Given the description of an element on the screen output the (x, y) to click on. 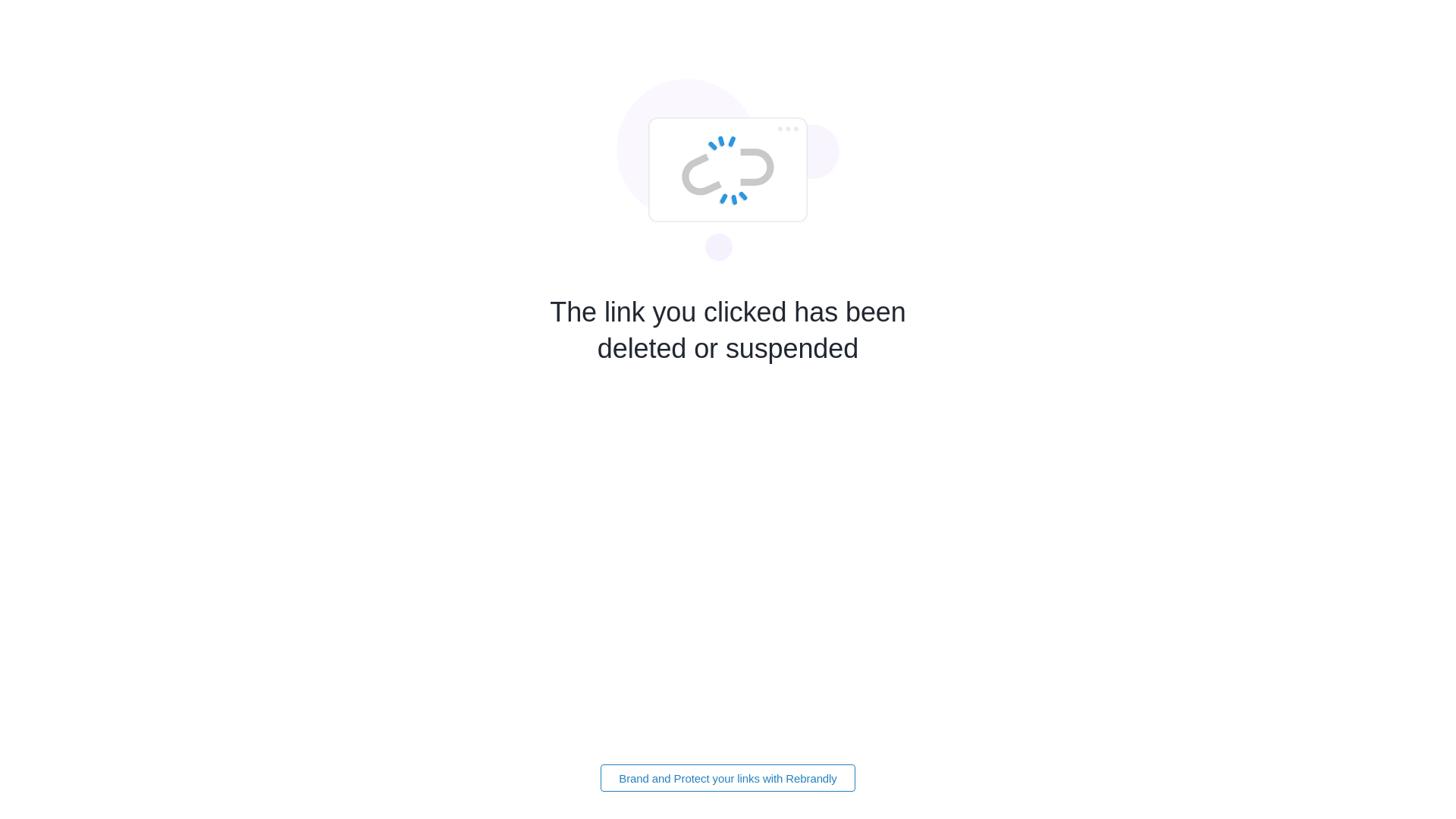
Brand and Protect your links with Rebrandly Element type: text (727, 777)
